Given the description of an element on the screen output the (x, y) to click on. 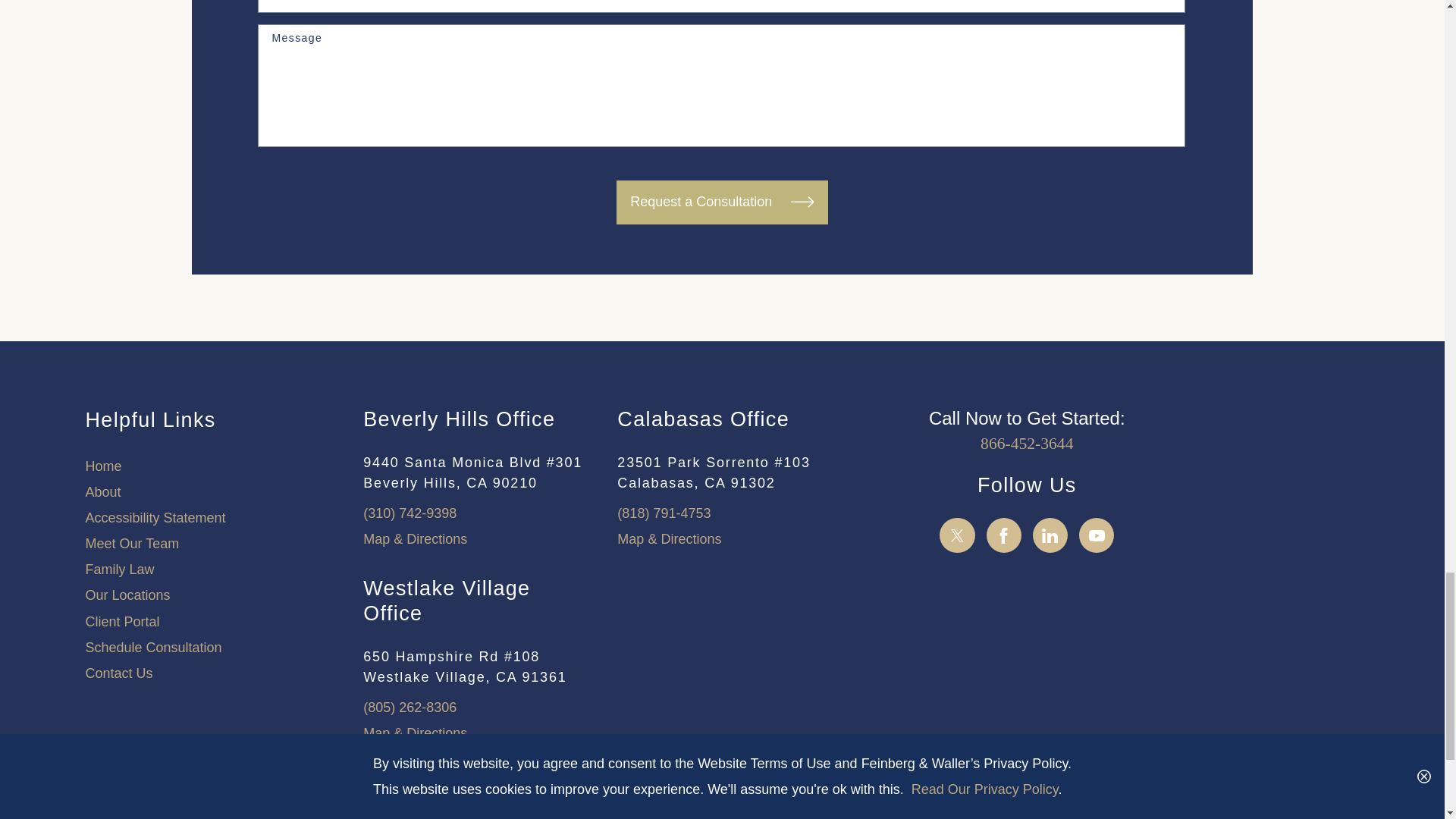
LinkedIn (1050, 535)
Twitter (957, 535)
Facebook (1003, 535)
YouTube (1097, 535)
